Given the description of an element on the screen output the (x, y) to click on. 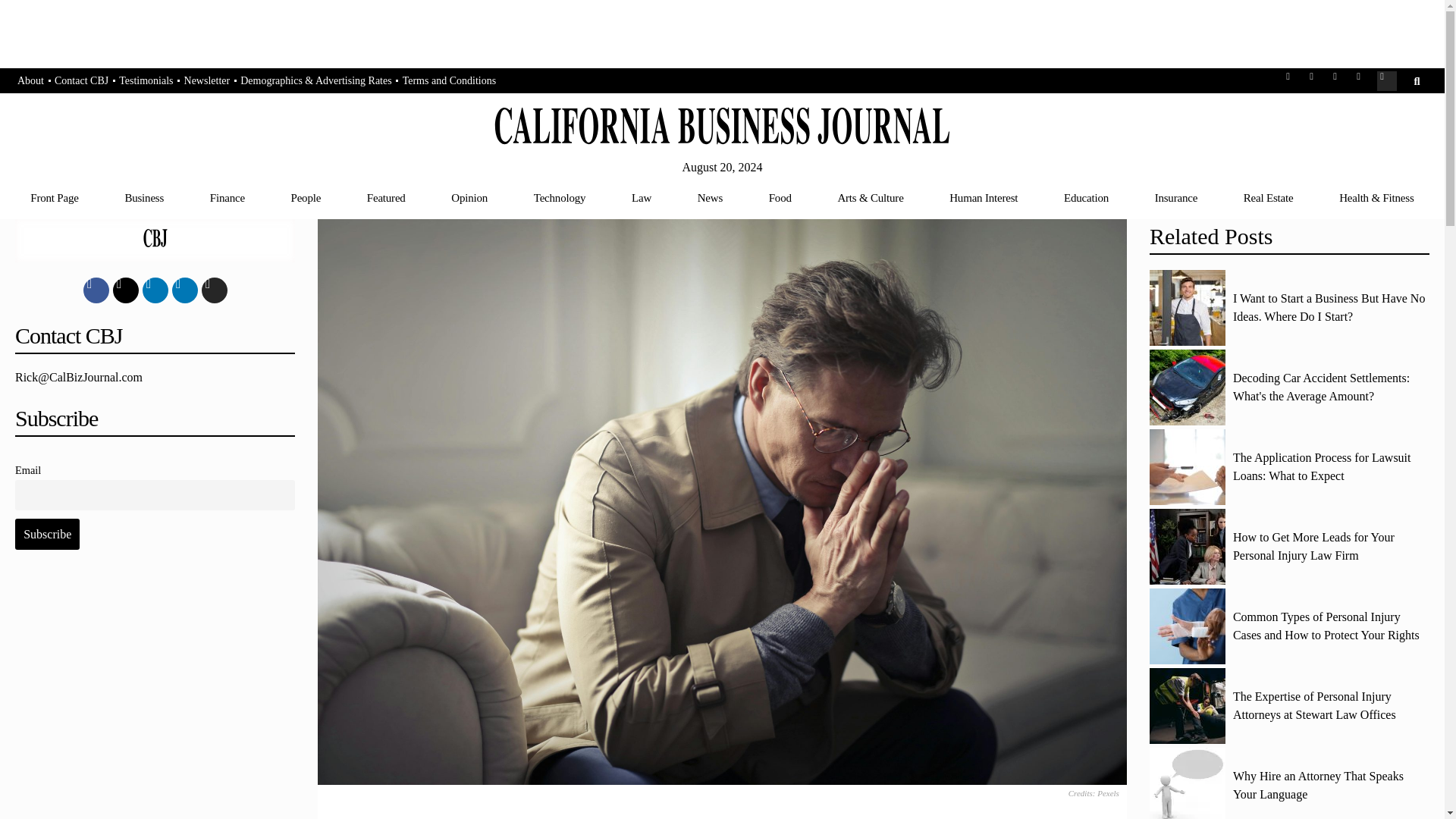
About (30, 81)
Testimonials (145, 81)
Featured (385, 197)
Advertisement (154, 698)
Law (641, 197)
Business (143, 197)
Insurance (1175, 197)
Front Page (54, 197)
Finance (226, 197)
Opinion (469, 197)
